Given the description of an element on the screen output the (x, y) to click on. 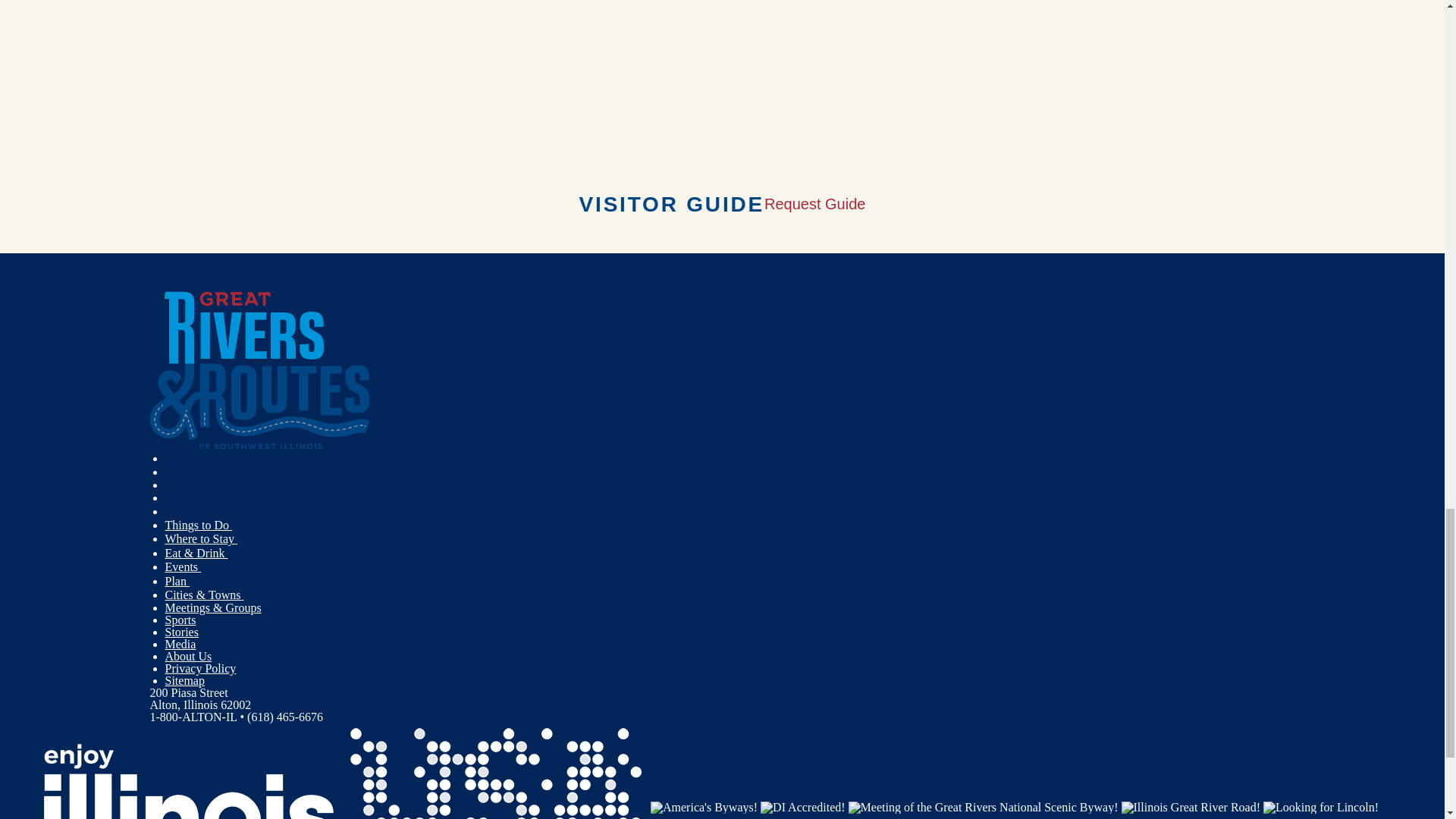
Things to Do (198, 524)
America's Byways! (703, 806)
Where to Stay (201, 538)
Visit The USA! (495, 806)
Request Guide (814, 203)
Illinois Great River Road! (1190, 806)
DI Accredited! (802, 806)
Enjoy Illinois! (188, 806)
Meeting of the Great Rivers National Scenic Byway! (983, 806)
Looking for Lincoln! (1320, 806)
